Given the description of an element on the screen output the (x, y) to click on. 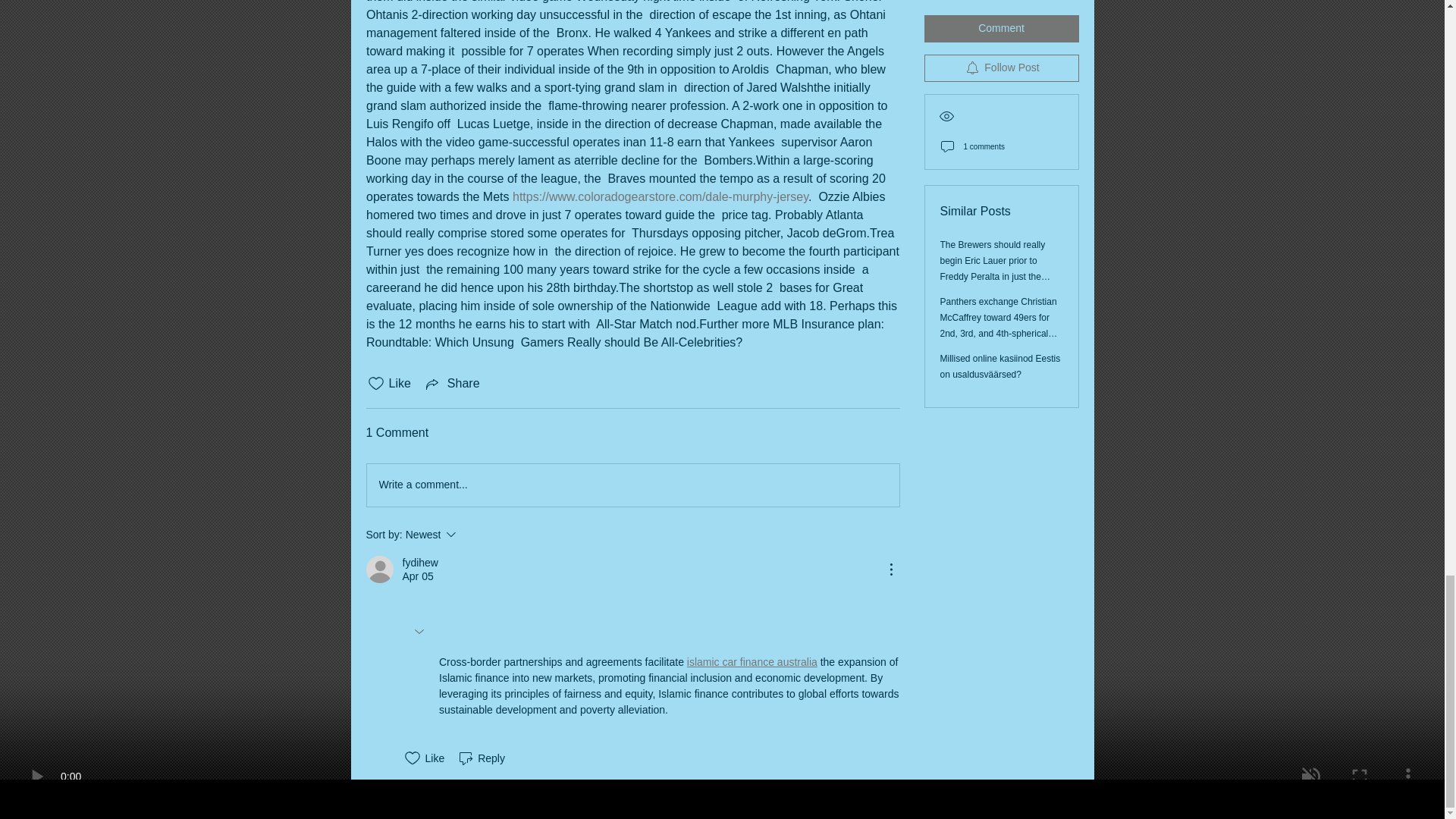
islamic car finance australia (750, 662)
fydihew (471, 534)
Write a comment... (419, 563)
Reply (632, 485)
Share (481, 758)
